Given the description of an element on the screen output the (x, y) to click on. 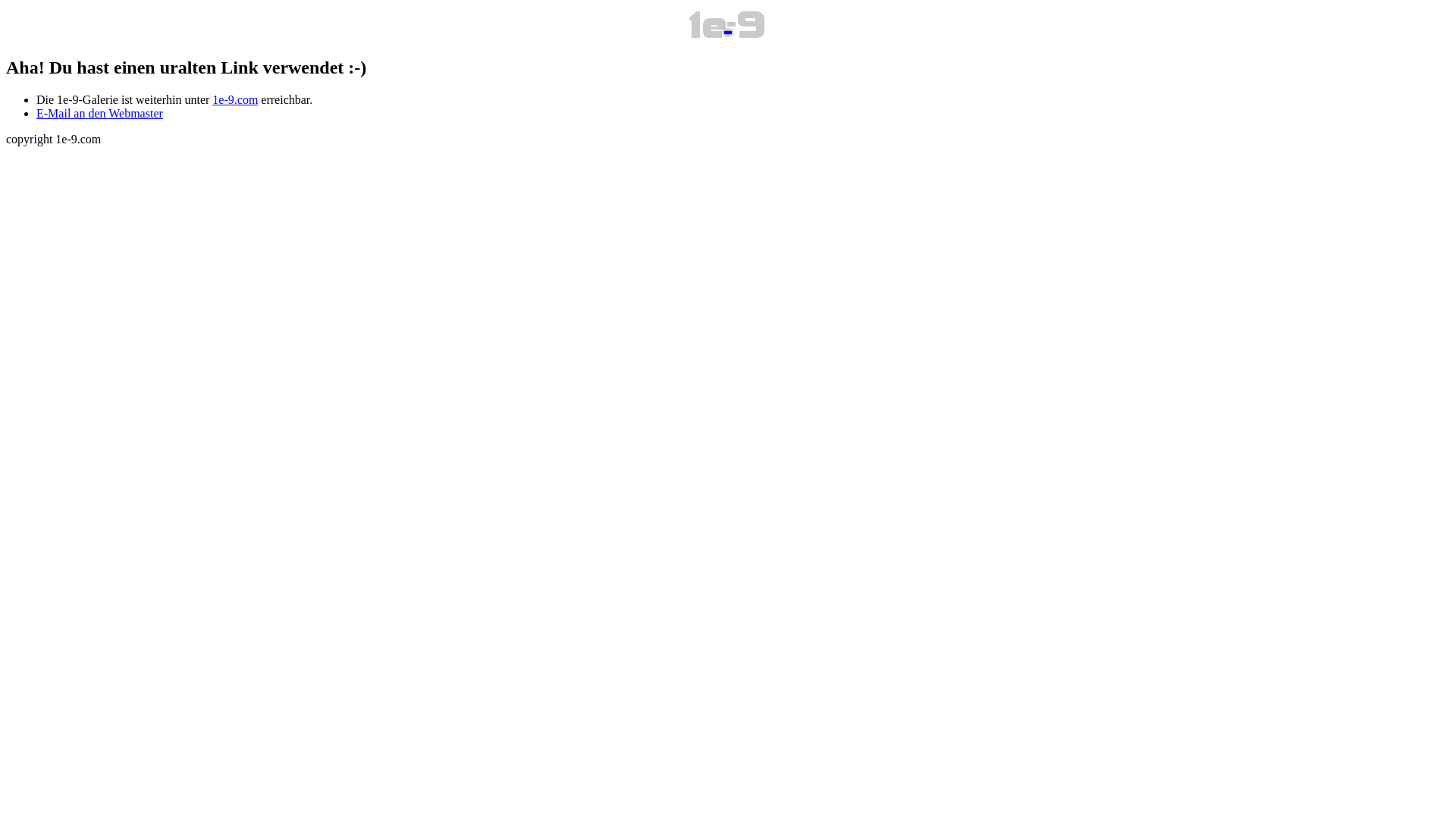
1e-9.com Element type: text (234, 99)
  Element type: text (727, 24)
E-Mail an den Webmaster Element type: text (99, 112)
